Given the description of an element on the screen output the (x, y) to click on. 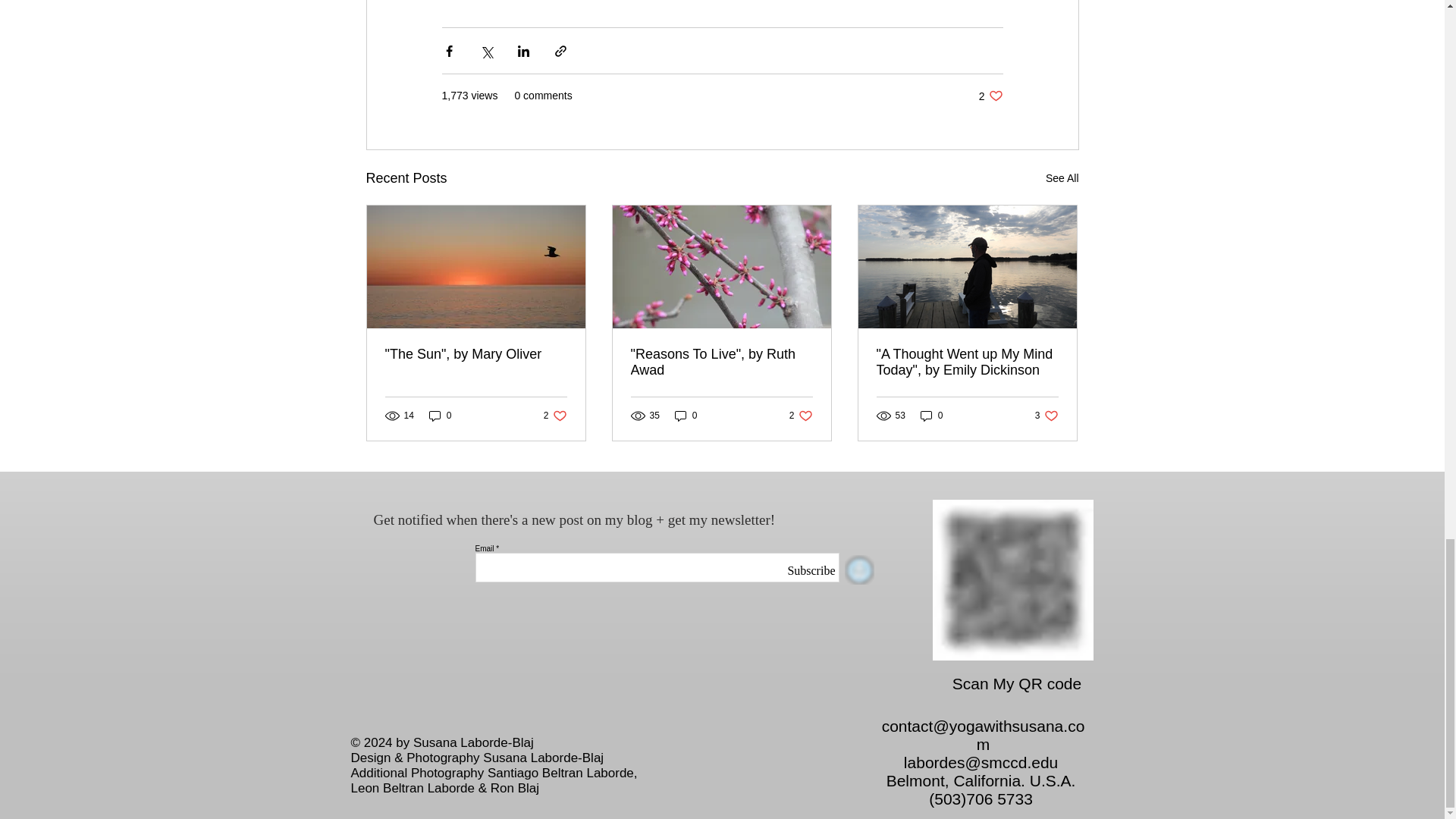
0 (685, 415)
0 (440, 415)
"Reasons To Live", by Ruth Awad (721, 362)
0 (931, 415)
Susana Laborde-Blaj QR Code (990, 95)
"The Sun", by Mary Oliver (1046, 415)
Subscribe (555, 415)
See All (800, 415)
"A Thought Went up My Mind Today", by Emily Dickinson (1013, 579)
